Given the description of an element on the screen output the (x, y) to click on. 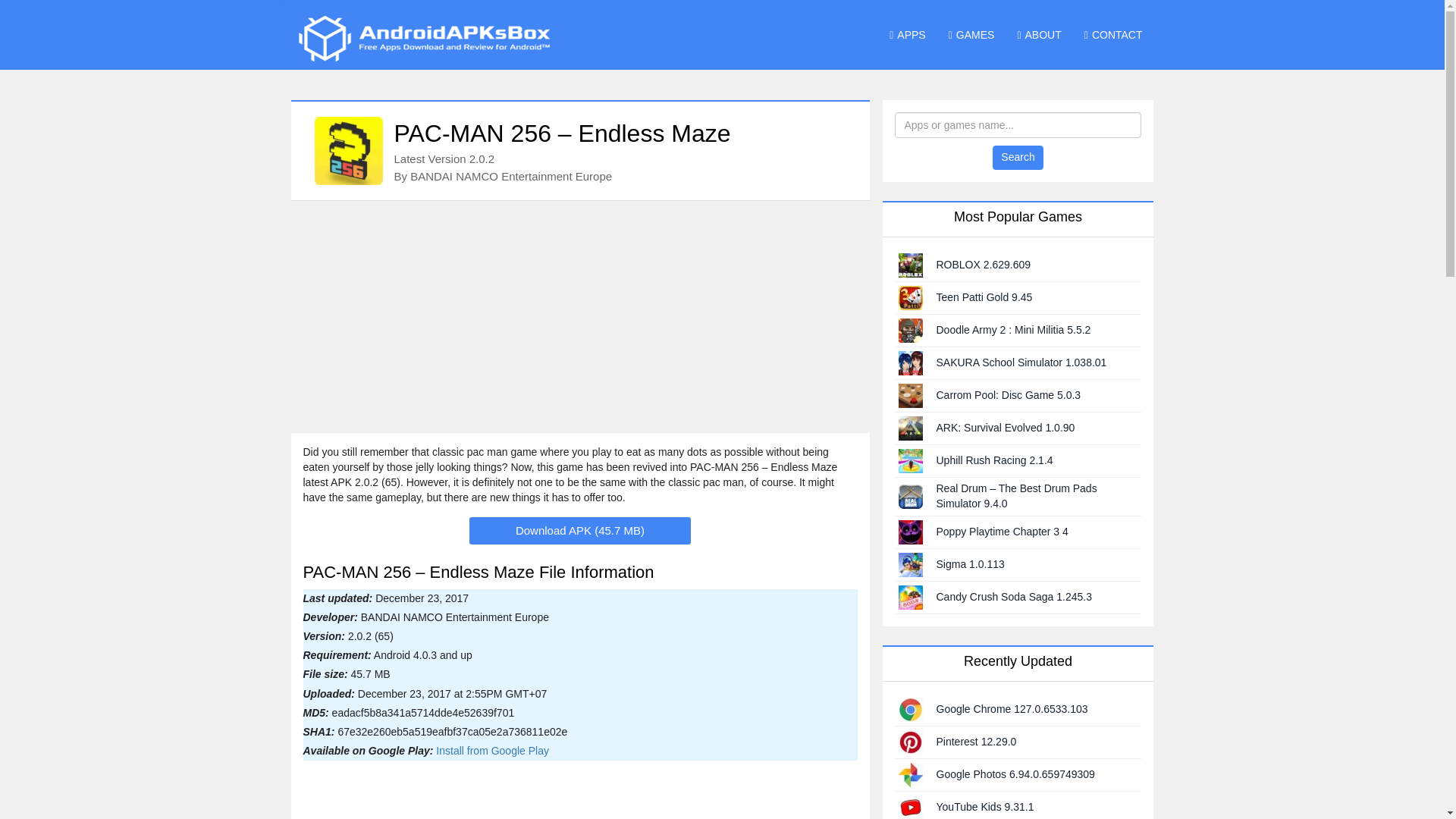
Carrom Pool: Disc Game 5.0.3 (1008, 395)
APPS (906, 34)
CONTACT (1113, 34)
ROBLOX 2.629.609 (983, 264)
ROBLOX Latest Version 2.629.609 APK Download (983, 264)
GAMES (971, 34)
SAKURA School Simulator 1.038.01 (1021, 362)
Teen Patti Gold 9.45 (984, 297)
ROBLOX Latest Version 2.629.609 APK Download (909, 263)
Doodle Army 2 : Mini Militia 5.5.2 (1013, 329)
